Given the description of an element on the screen output the (x, y) to click on. 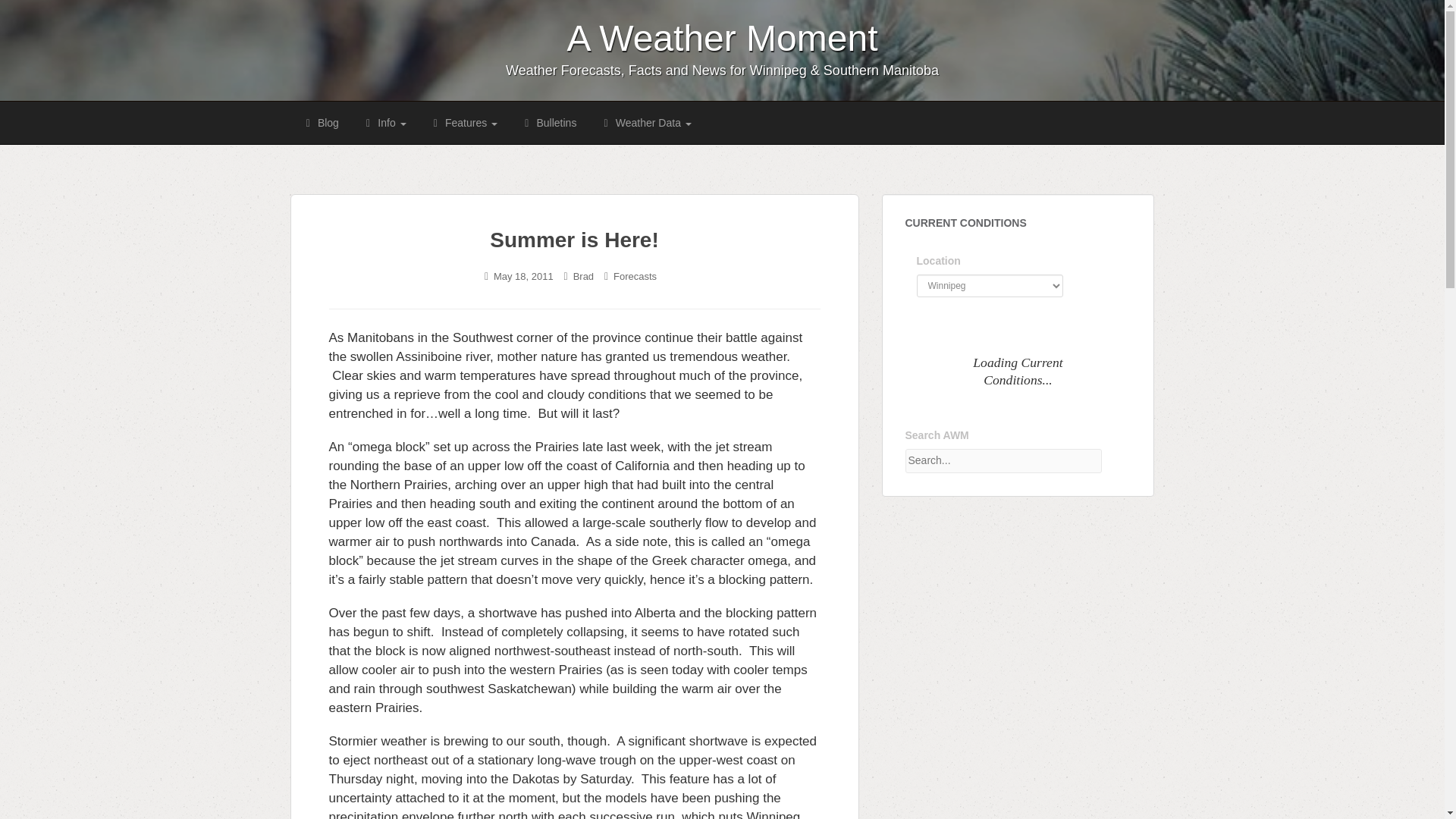
Brad (583, 276)
 Blog (319, 122)
 Info (383, 122)
Weather Data (644, 122)
 Features (463, 122)
Blog (319, 122)
 Weather Data (644, 122)
Features (463, 122)
Info (383, 122)
Forecasts (634, 276)
 Bulletins (548, 122)
May 18, 2011 (523, 276)
Bulletins (548, 122)
